Given the description of an element on the screen output the (x, y) to click on. 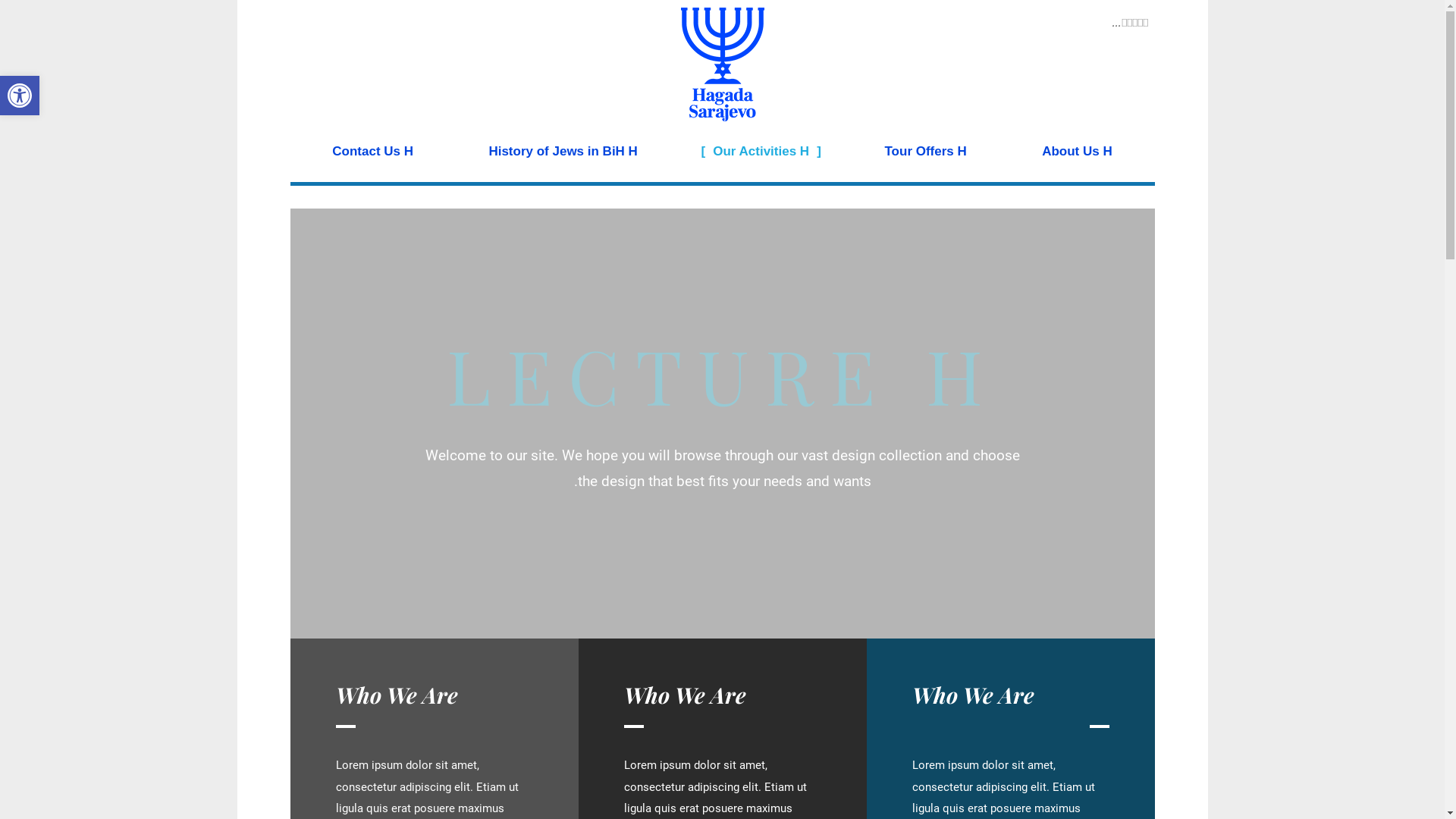
Tour Offers H Element type: text (925, 151)
History of Jews in BiH H Element type: text (563, 151)
Our Activities H Element type: text (761, 151)
About Us H Element type: text (1076, 151)
Contact Us H Element type: text (372, 151)
